Given the description of an element on the screen output the (x, y) to click on. 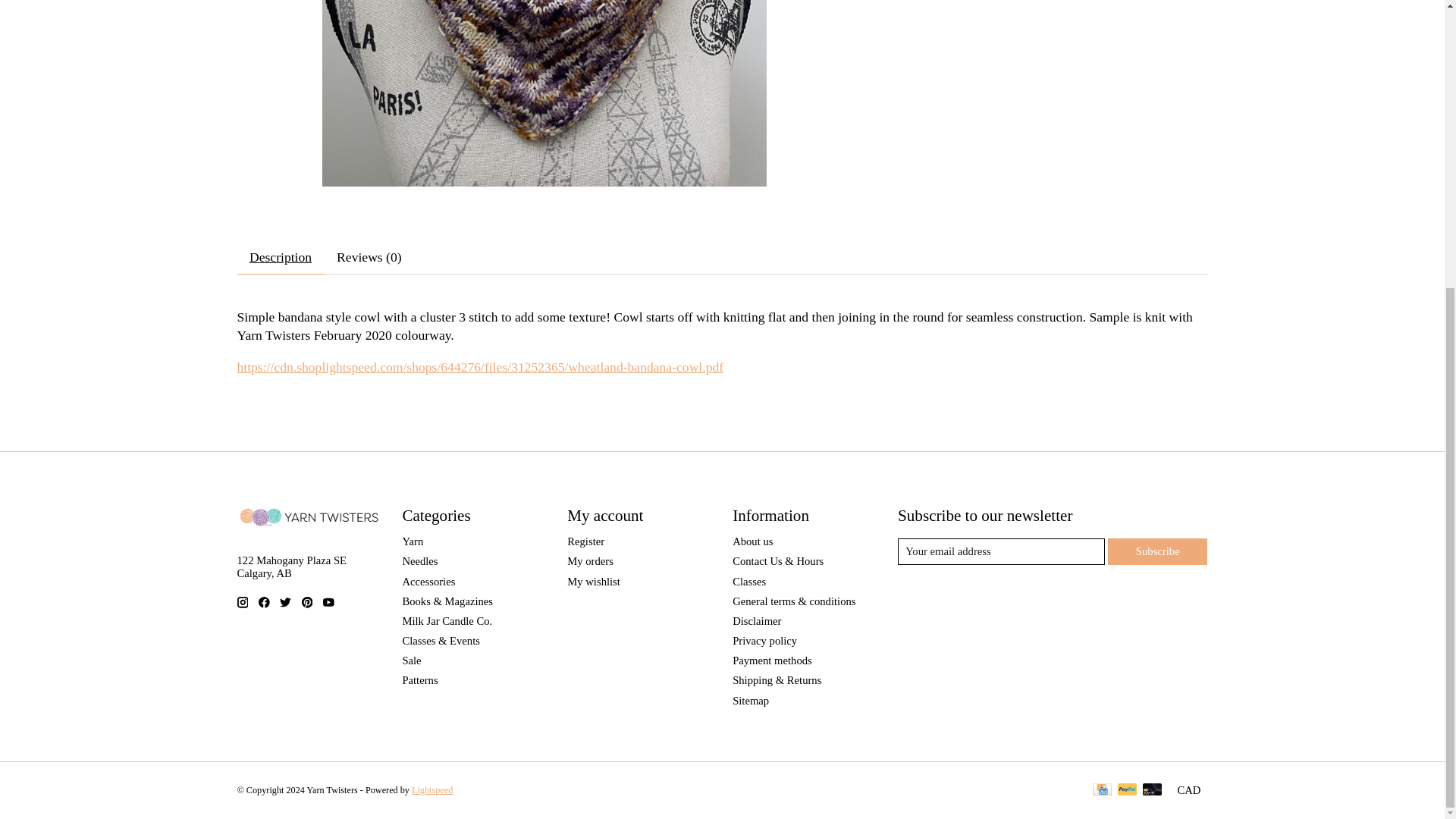
Disclaimer (756, 621)
About us (752, 541)
Register (585, 541)
Classes (748, 581)
My wishlist (593, 581)
My orders (589, 561)
